Given the description of an element on the screen output the (x, y) to click on. 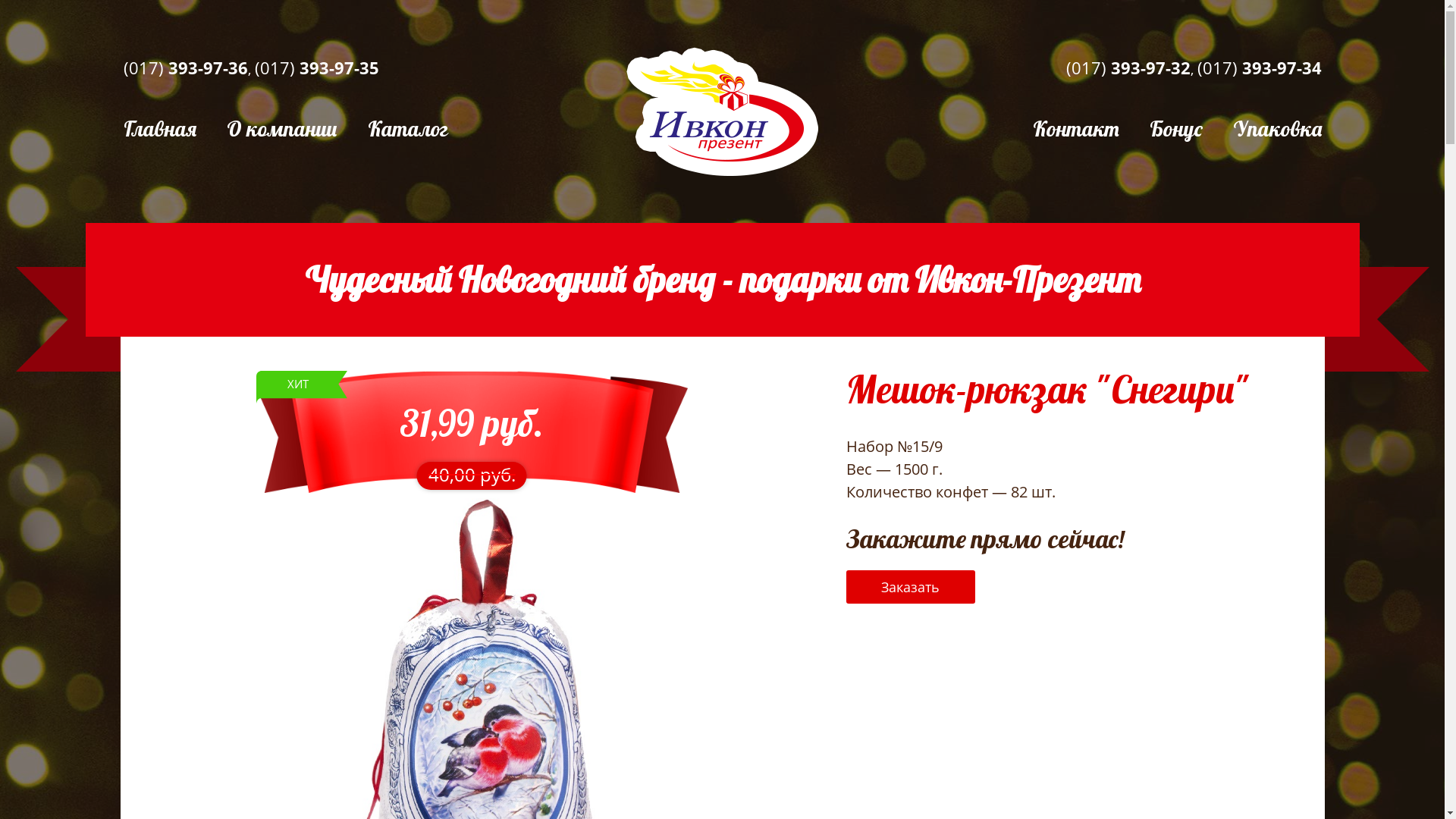
(017) 393-97-32 Element type: text (1128, 67)
(017) 393-97-36 Element type: text (184, 67)
(017) 393-97-34 Element type: text (1258, 67)
(017) 393-97-35 Element type: text (316, 67)
